Given the description of an element on the screen output the (x, y) to click on. 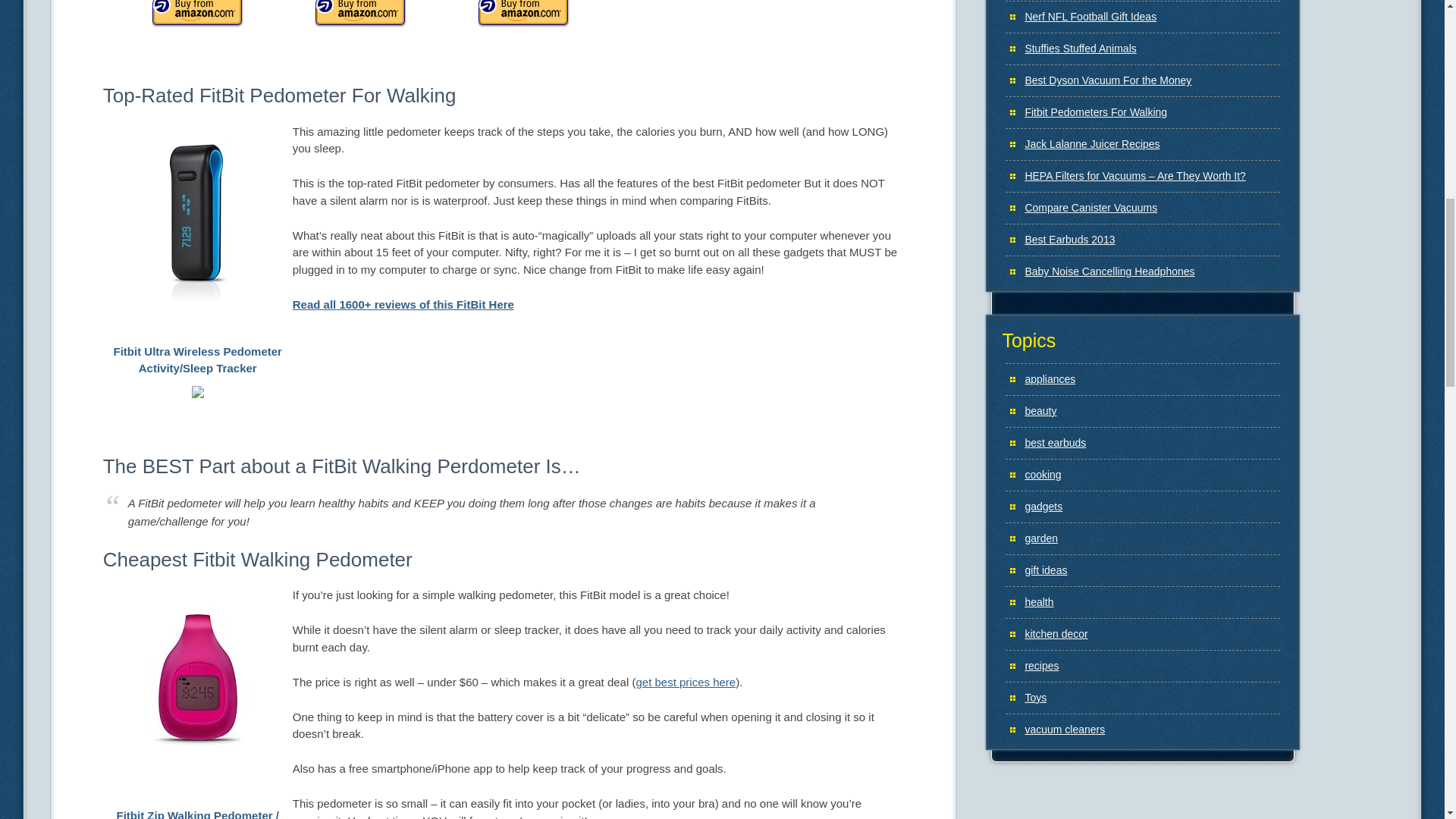
Fitbit Aria Wi-Fi Smart Scale (361, 22)
Safety Leash for Pedometer (524, 22)
get best prices here (684, 681)
